Given the description of an element on the screen output the (x, y) to click on. 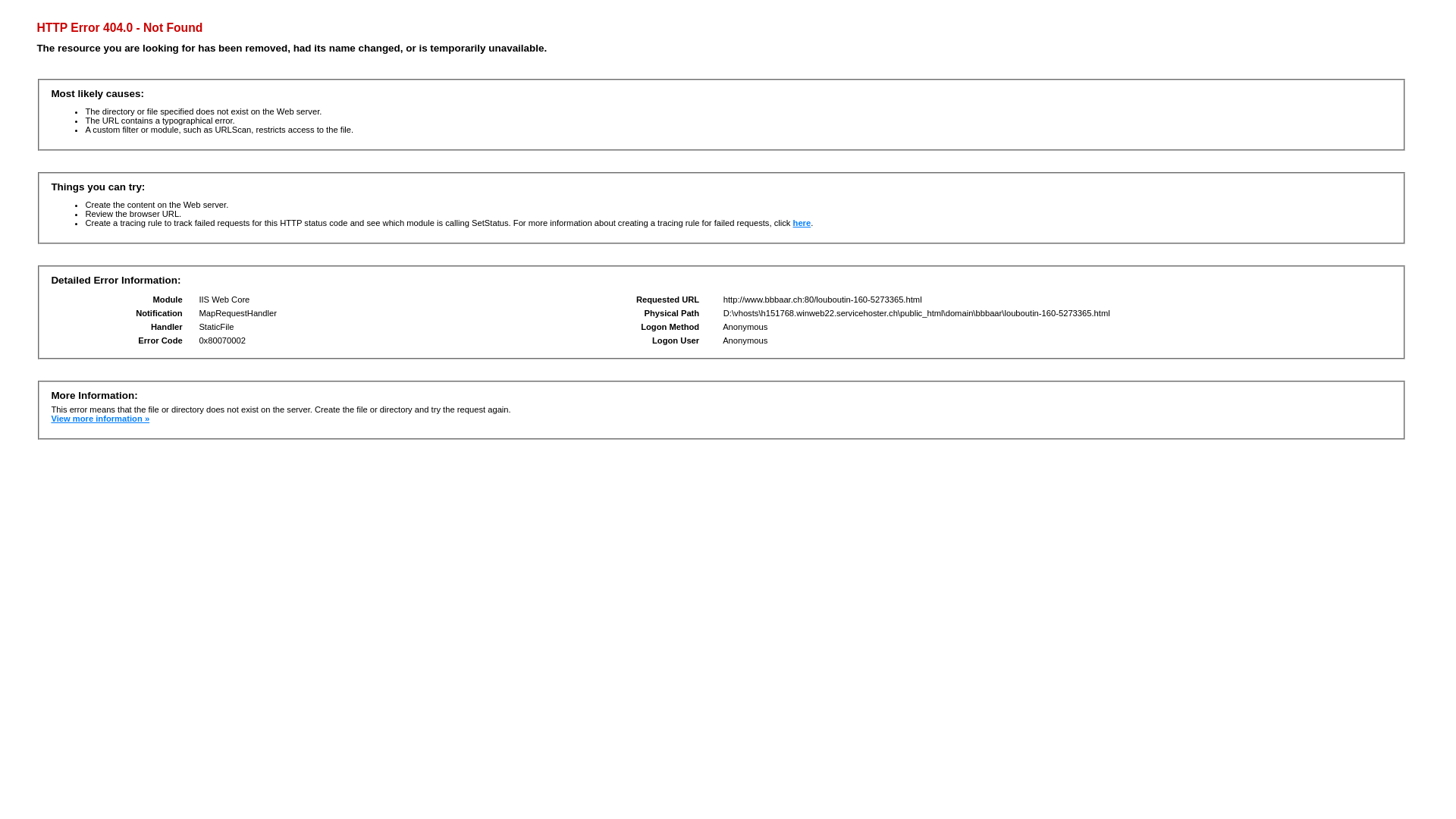
here Element type: text (802, 222)
